Given the description of an element on the screen output the (x, y) to click on. 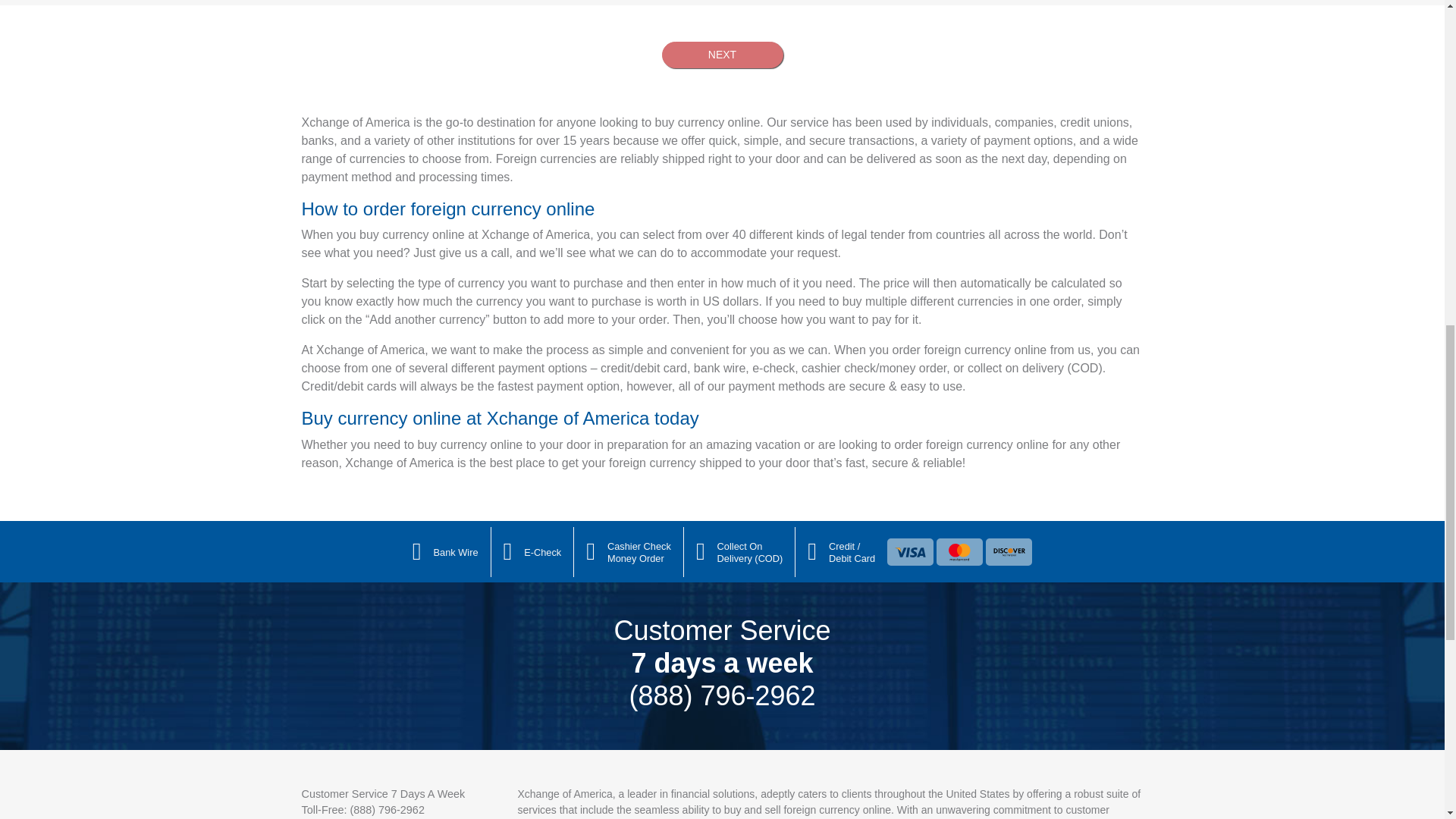
Next (722, 54)
